Given the description of an element on the screen output the (x, y) to click on. 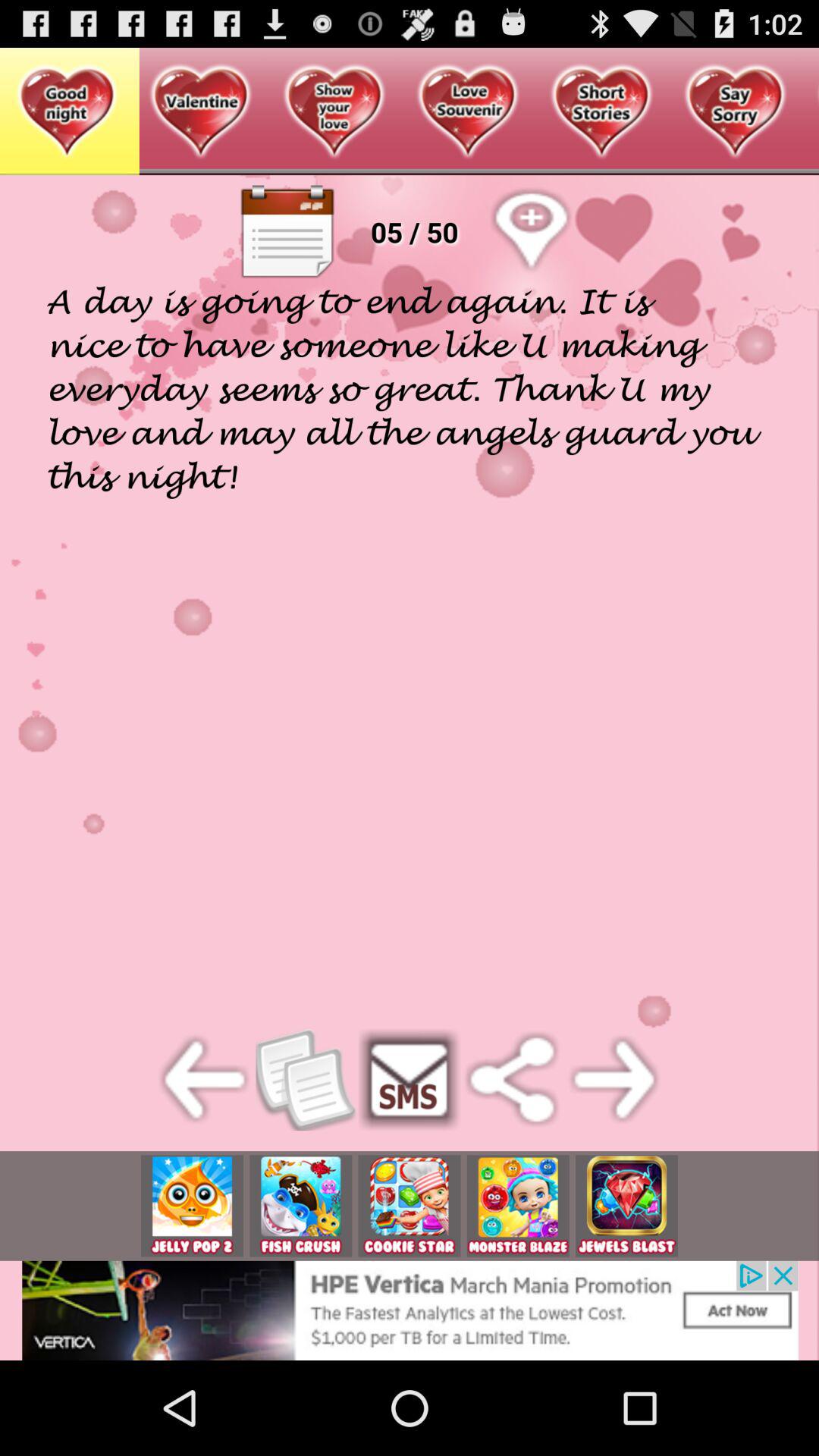
next (614, 1079)
